Given the description of an element on the screen output the (x, y) to click on. 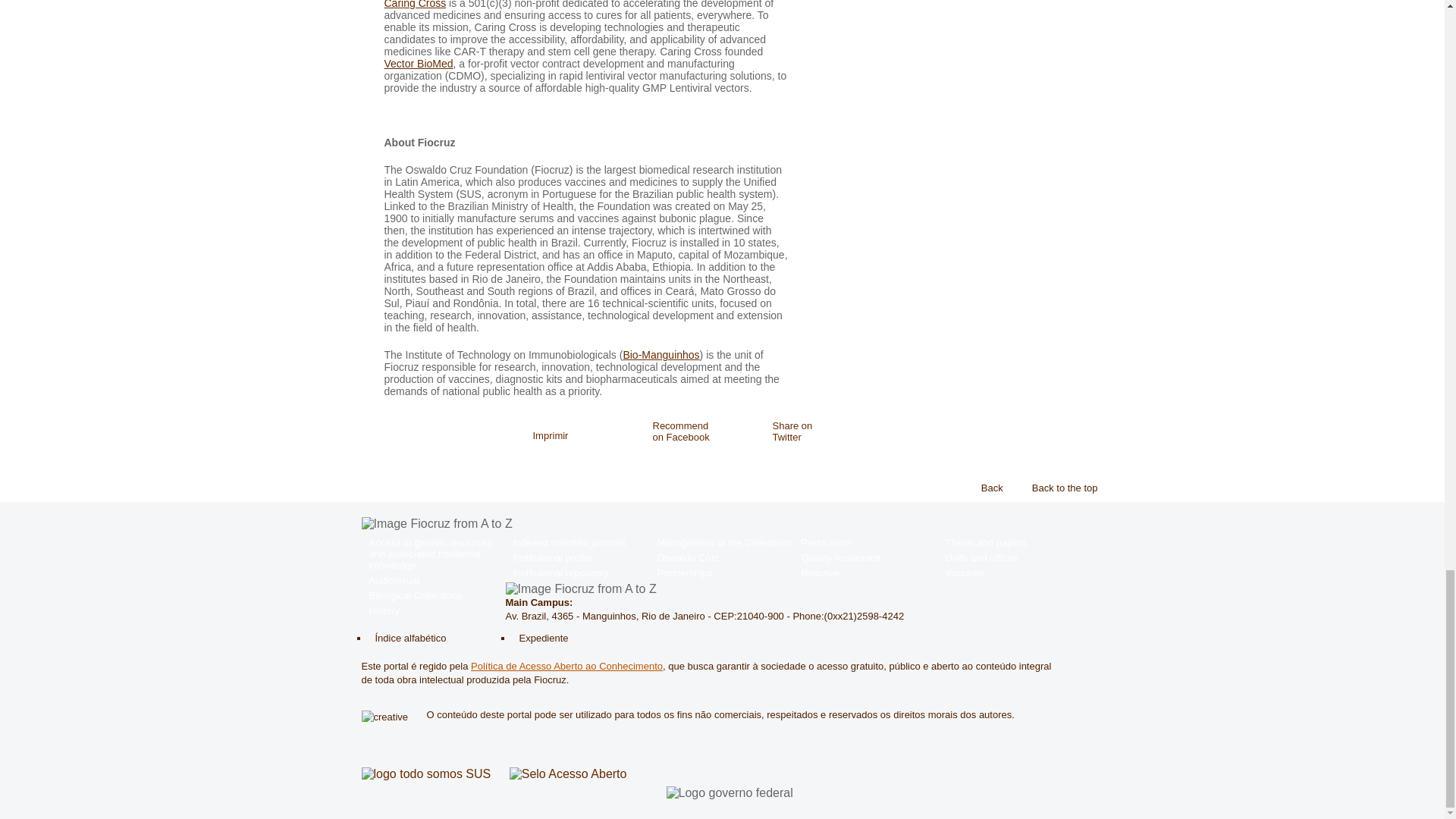
Biological Collections (433, 595)
Audiovisual (433, 580)
Display a printer-friendly version of this page. (549, 436)
Back to the top (1060, 487)
Link para Expediente (540, 637)
History (433, 610)
Share on Twitter (788, 431)
Caring Cross (414, 4)
Vector BioMed (418, 63)
Imprimir (549, 436)
